Given the description of an element on the screen output the (x, y) to click on. 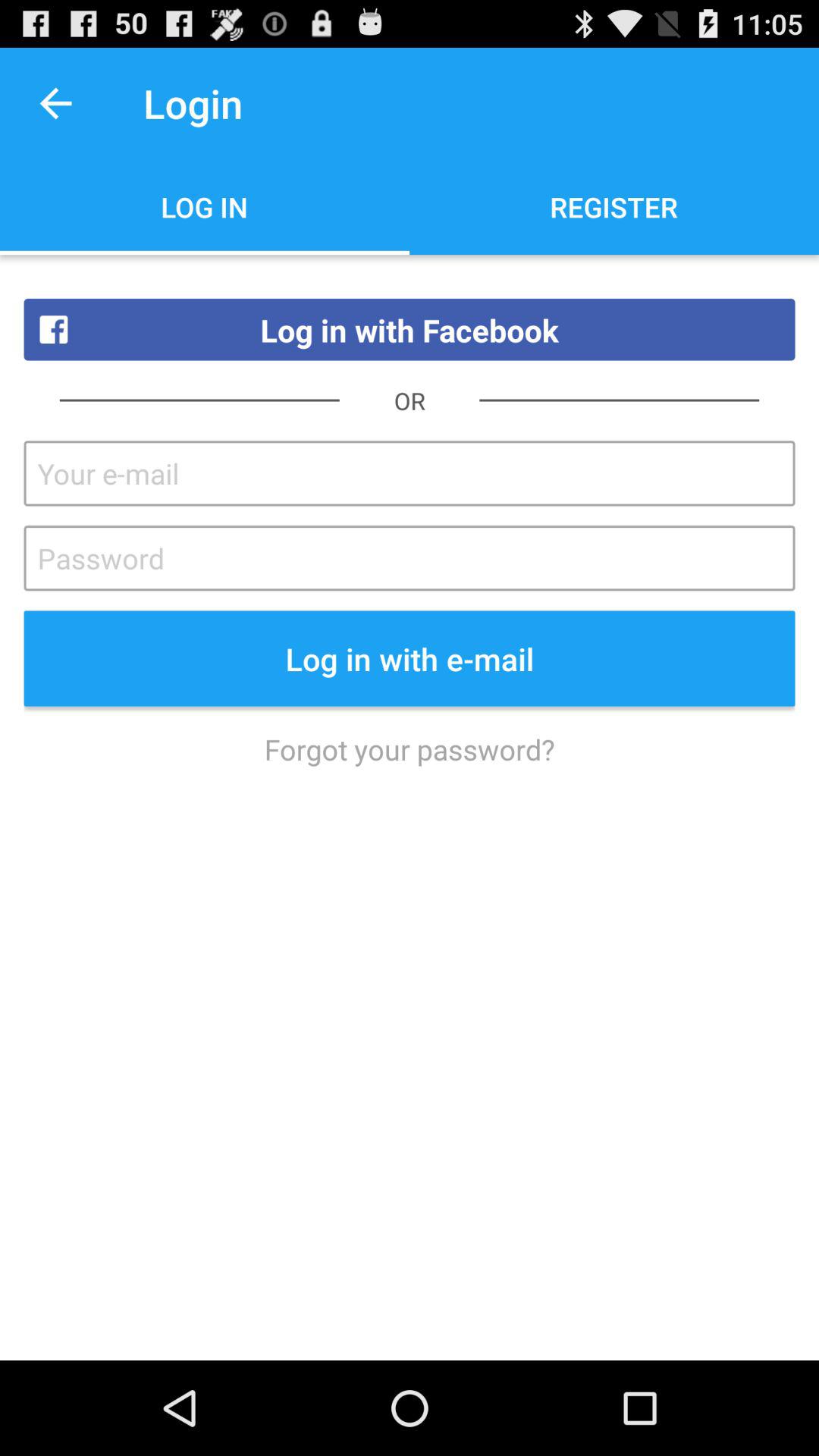
open field for email address (409, 473)
